Given the description of an element on the screen output the (x, y) to click on. 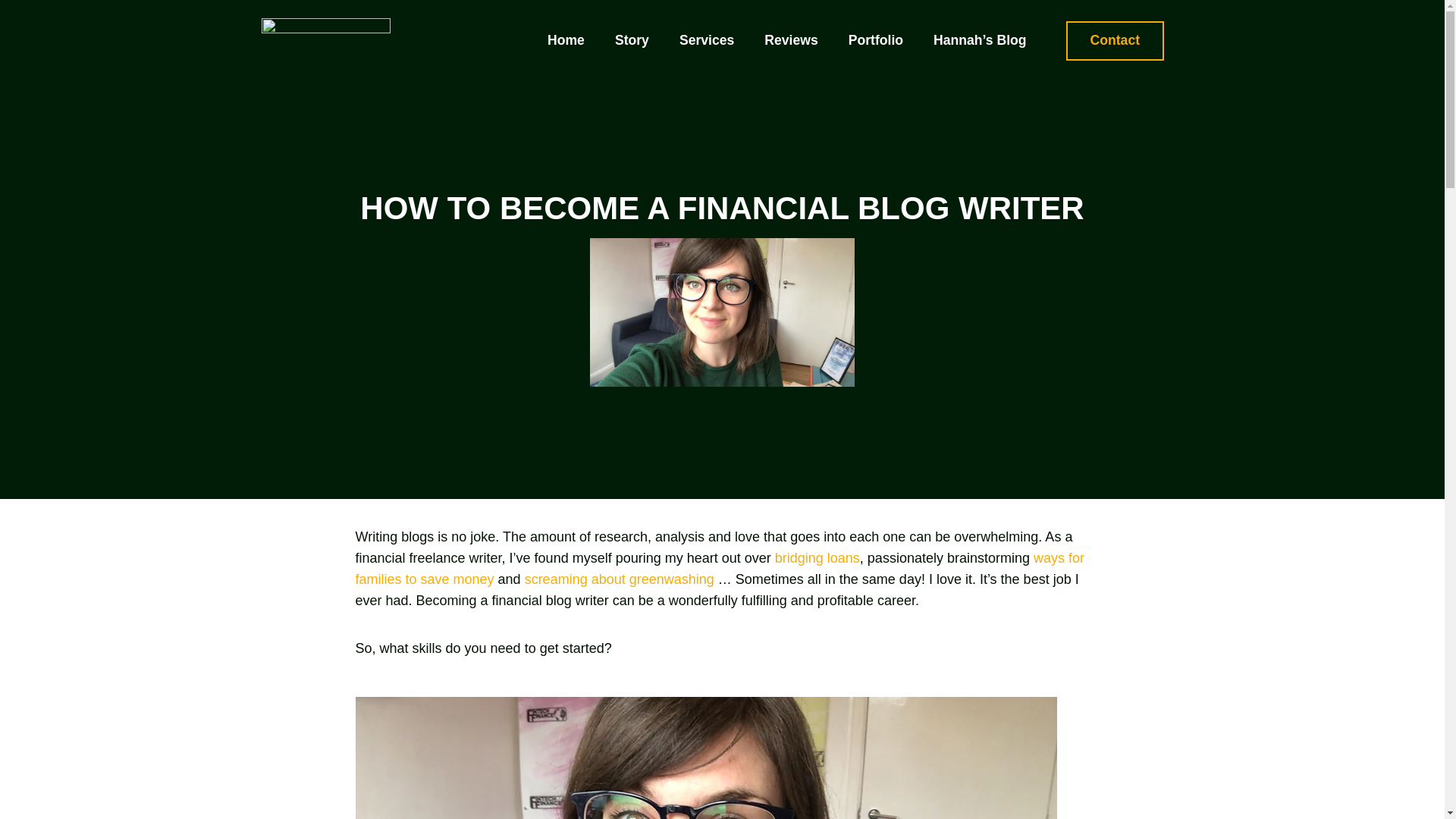
Contact (1114, 40)
bridging loans (817, 557)
ways for families to save money (719, 568)
Portfolio (875, 40)
Reviews (790, 40)
Home (565, 40)
screaming about greenwashing (619, 579)
Story (631, 40)
Services (706, 40)
